Given the description of an element on the screen output the (x, y) to click on. 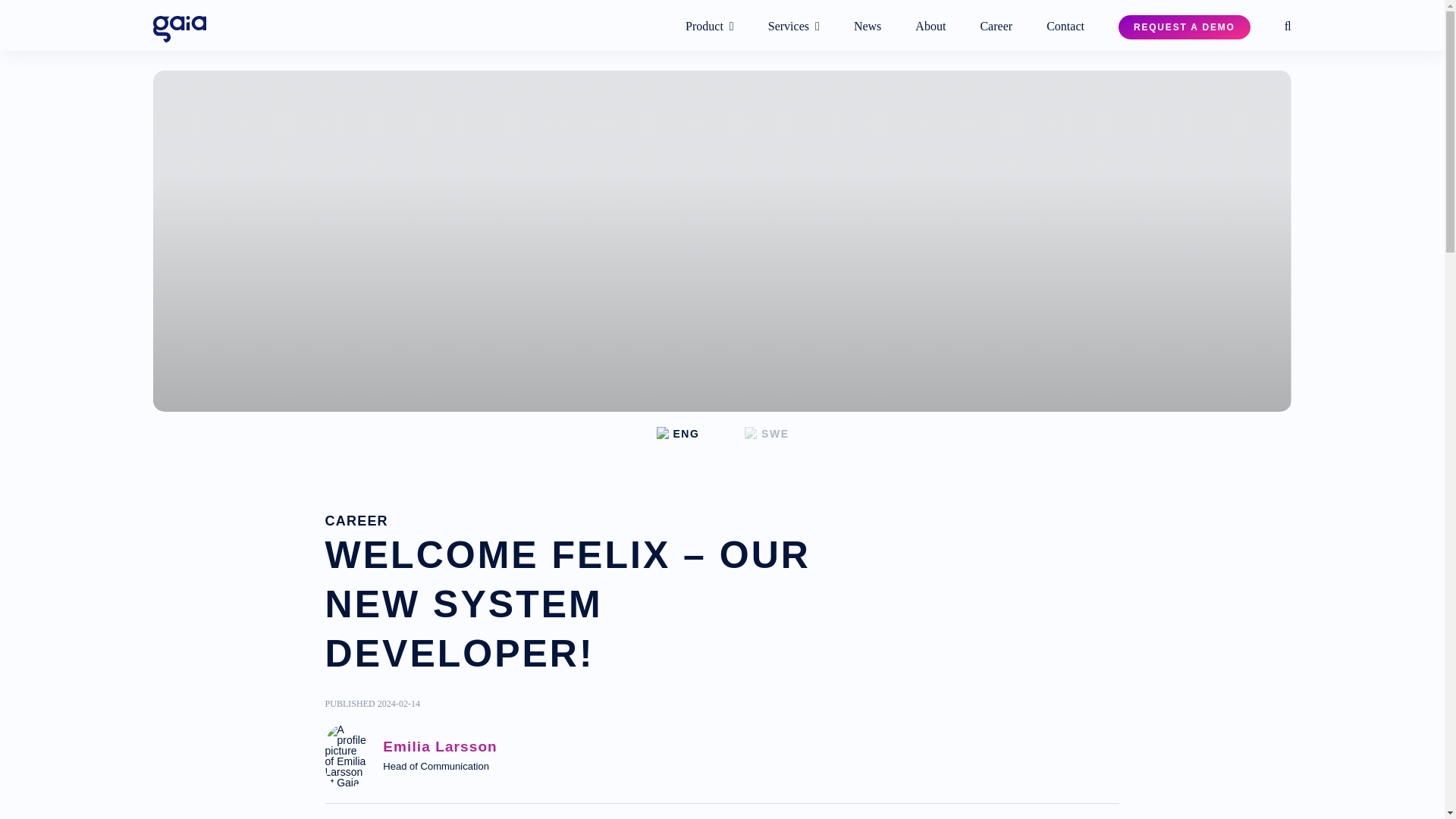
Career (995, 27)
Services (793, 27)
Contact (1065, 27)
Product (709, 27)
News (866, 27)
About (929, 27)
REQUEST A DEMO (1184, 27)
